Given the description of an element on the screen output the (x, y) to click on. 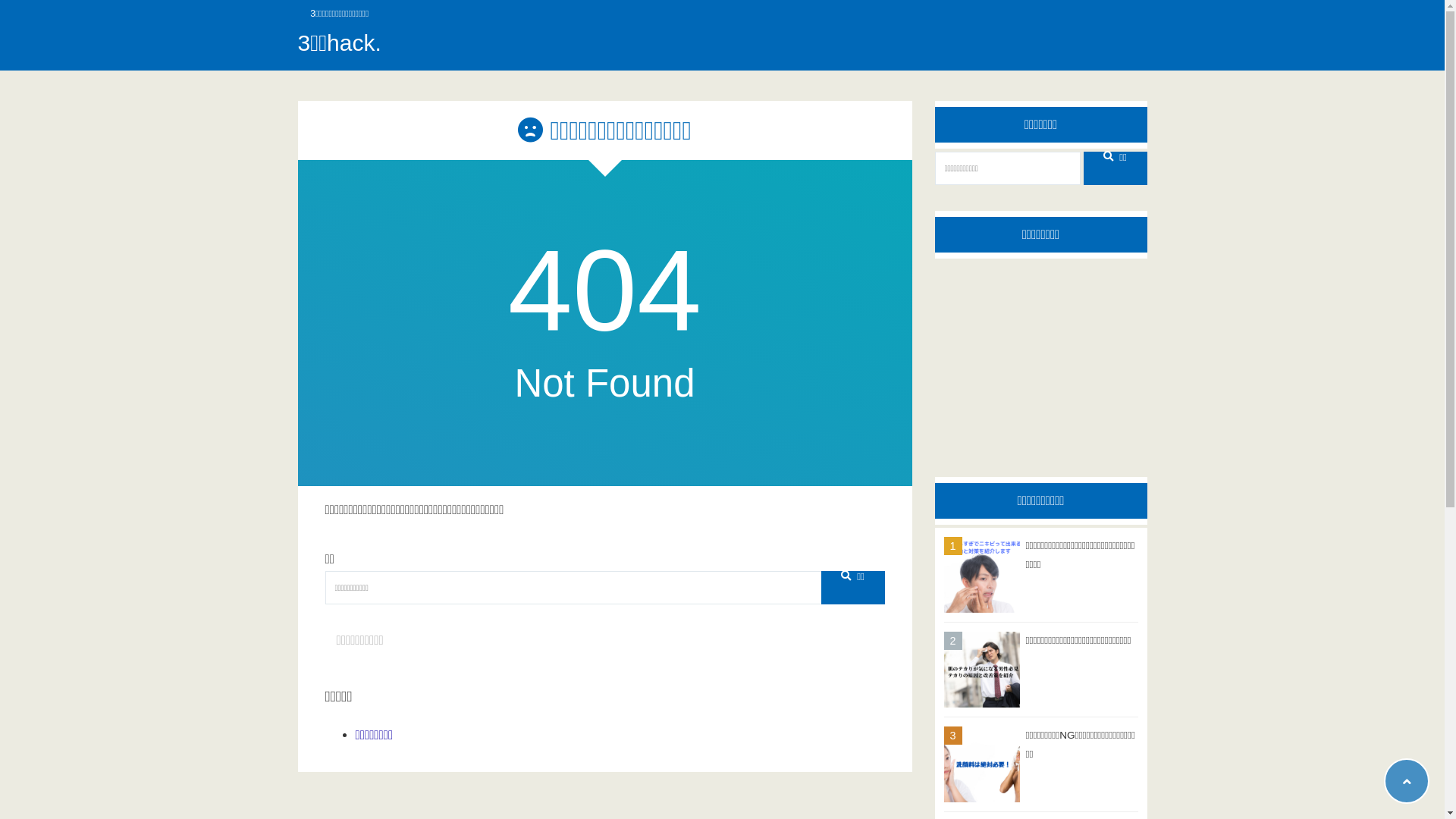
Advertisement Element type: hover (1040, 356)
